Given the description of an element on the screen output the (x, y) to click on. 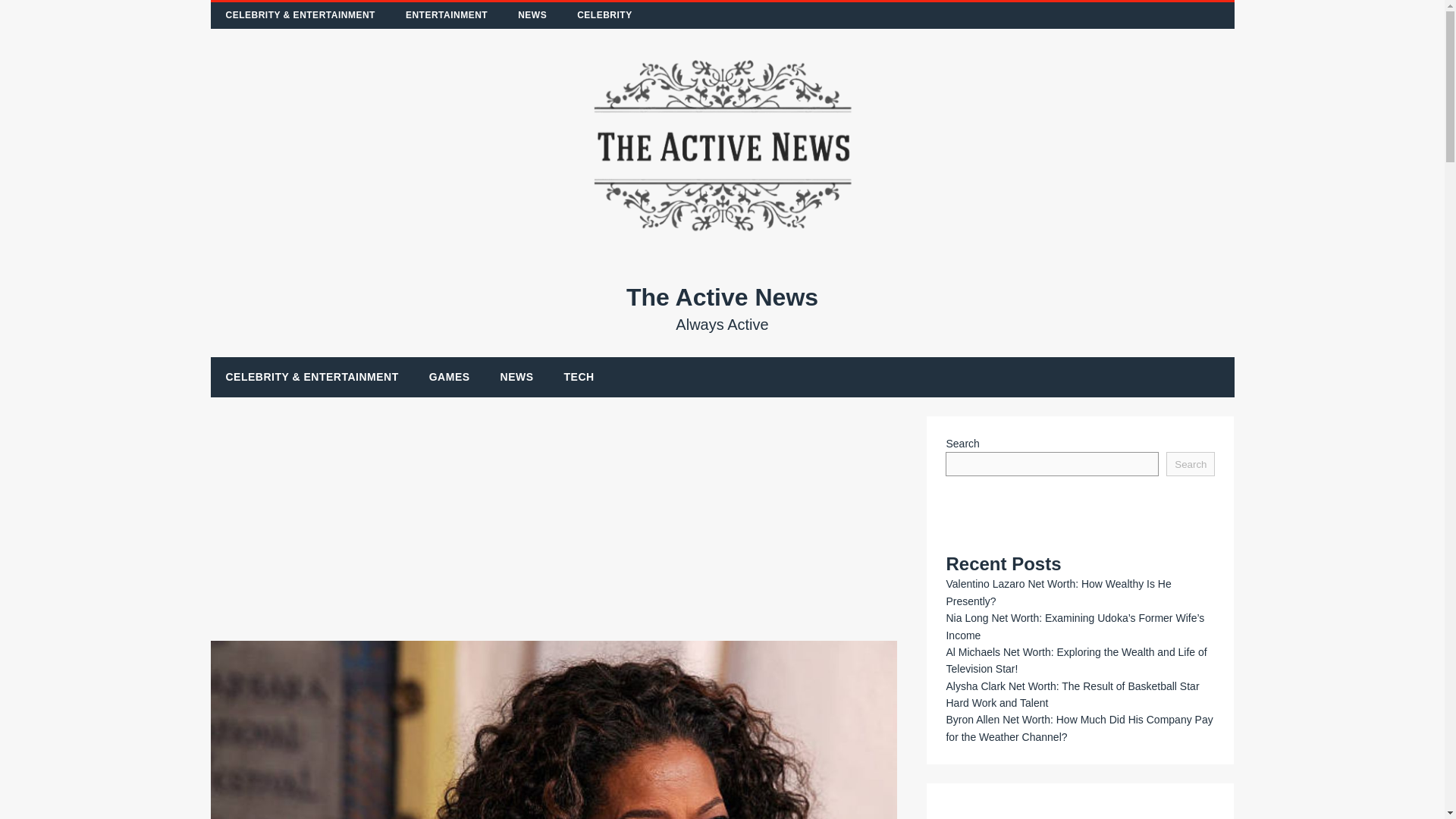
ENTERTAINMENT (446, 15)
Valentino Lazaro Net Worth: How Wealthy Is He Presently? (1057, 592)
CELEBRITY (604, 15)
Oprah Weight Loss (553, 729)
Search (1190, 463)
NEWS (532, 15)
TECH (579, 376)
The Active News (722, 308)
NEWS (516, 376)
GAMES (448, 376)
Advertisement (722, 308)
